Given the description of an element on the screen output the (x, y) to click on. 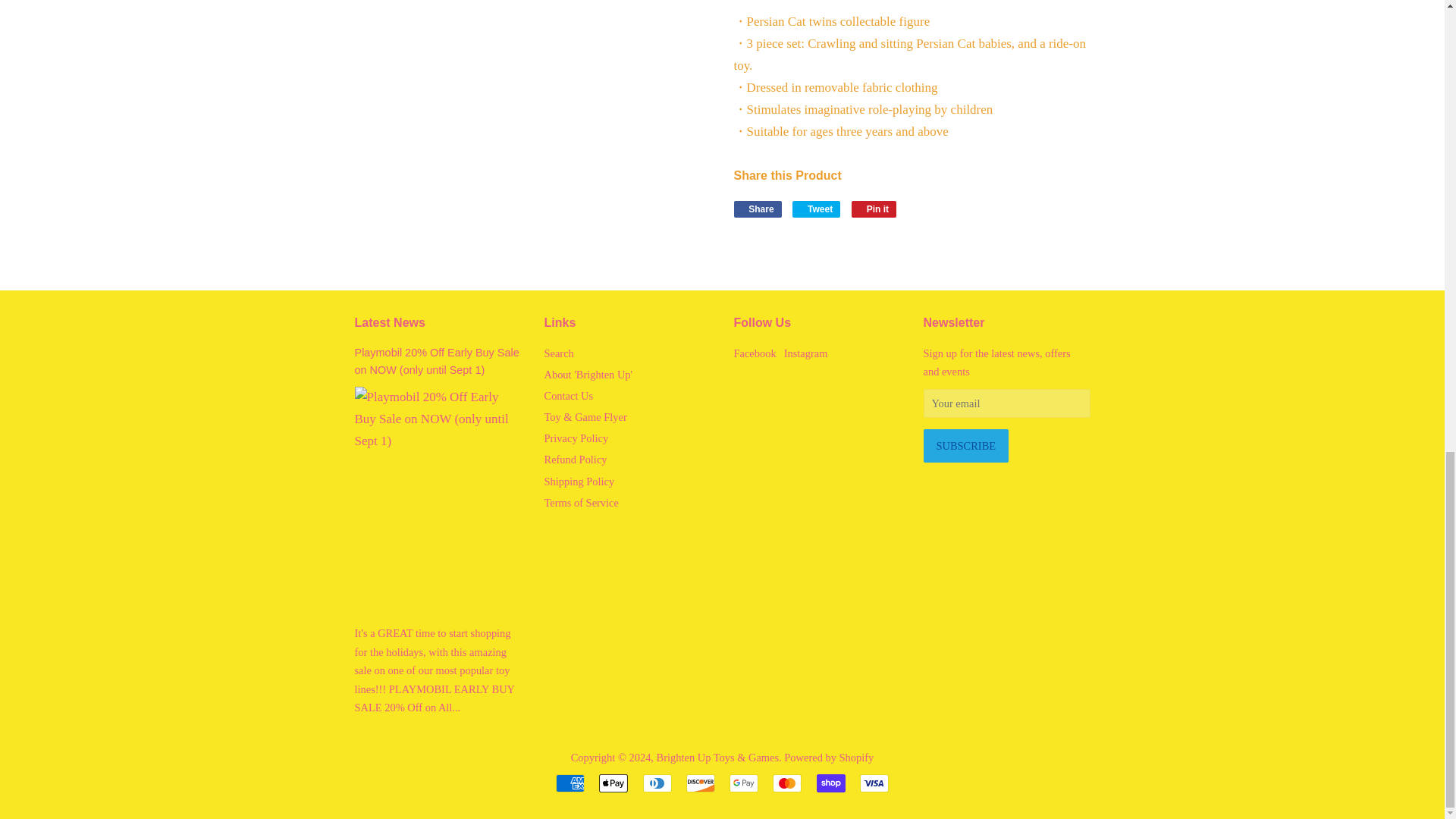
Subscribe (966, 445)
Tweet on Twitter (816, 208)
Pin on Pinterest (873, 208)
Apple Pay (612, 782)
Diners Club (657, 782)
Share on Facebook (757, 208)
Discover (699, 782)
Shop Pay (830, 782)
Visa (874, 782)
Mastercard (787, 782)
